Given the description of an element on the screen output the (x, y) to click on. 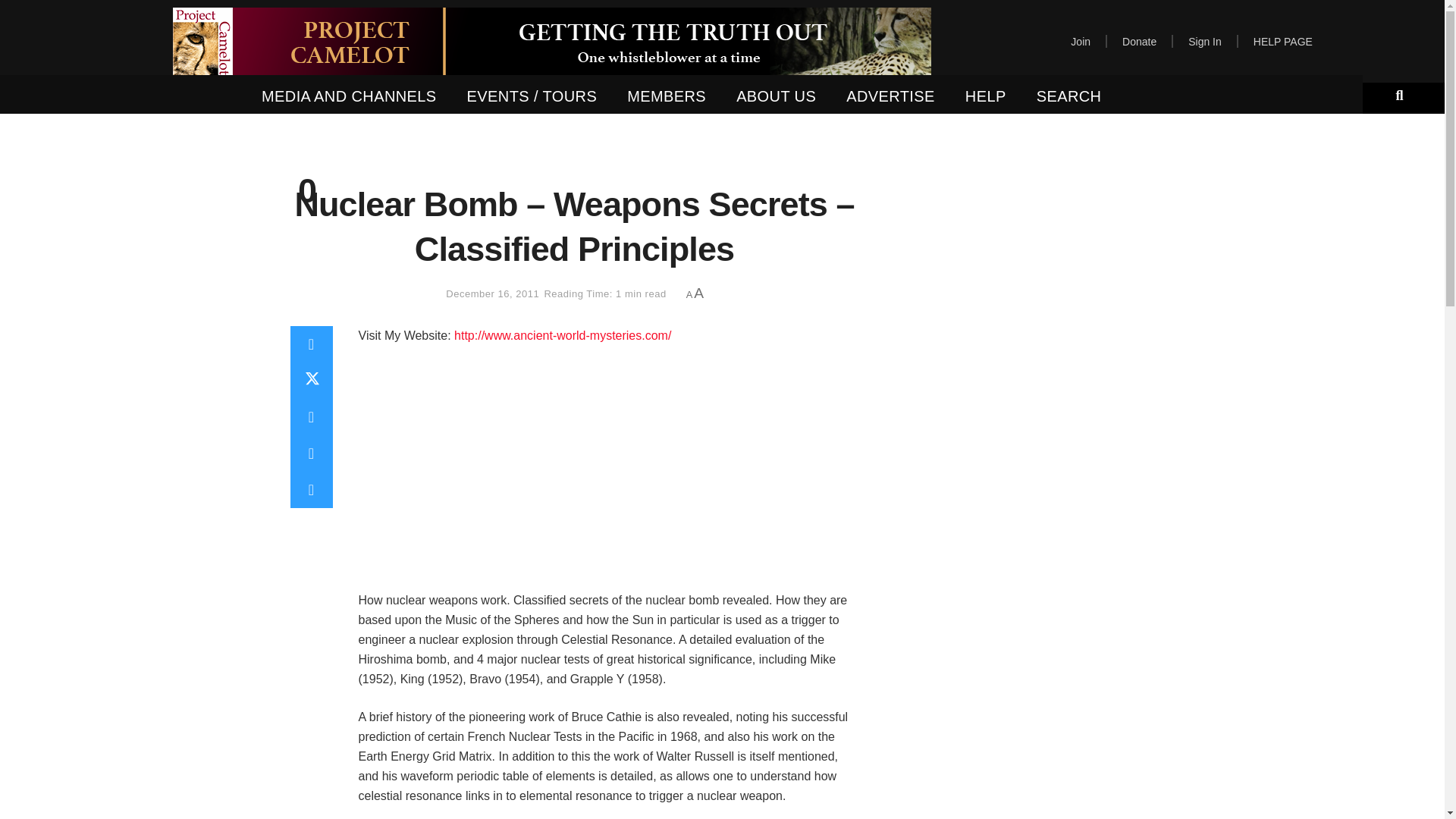
Join (1080, 41)
HELP PAGE (1283, 41)
Donate (1139, 41)
MEDIA AND CHANNELS (348, 95)
Sign In (1204, 41)
